Given the description of an element on the screen output the (x, y) to click on. 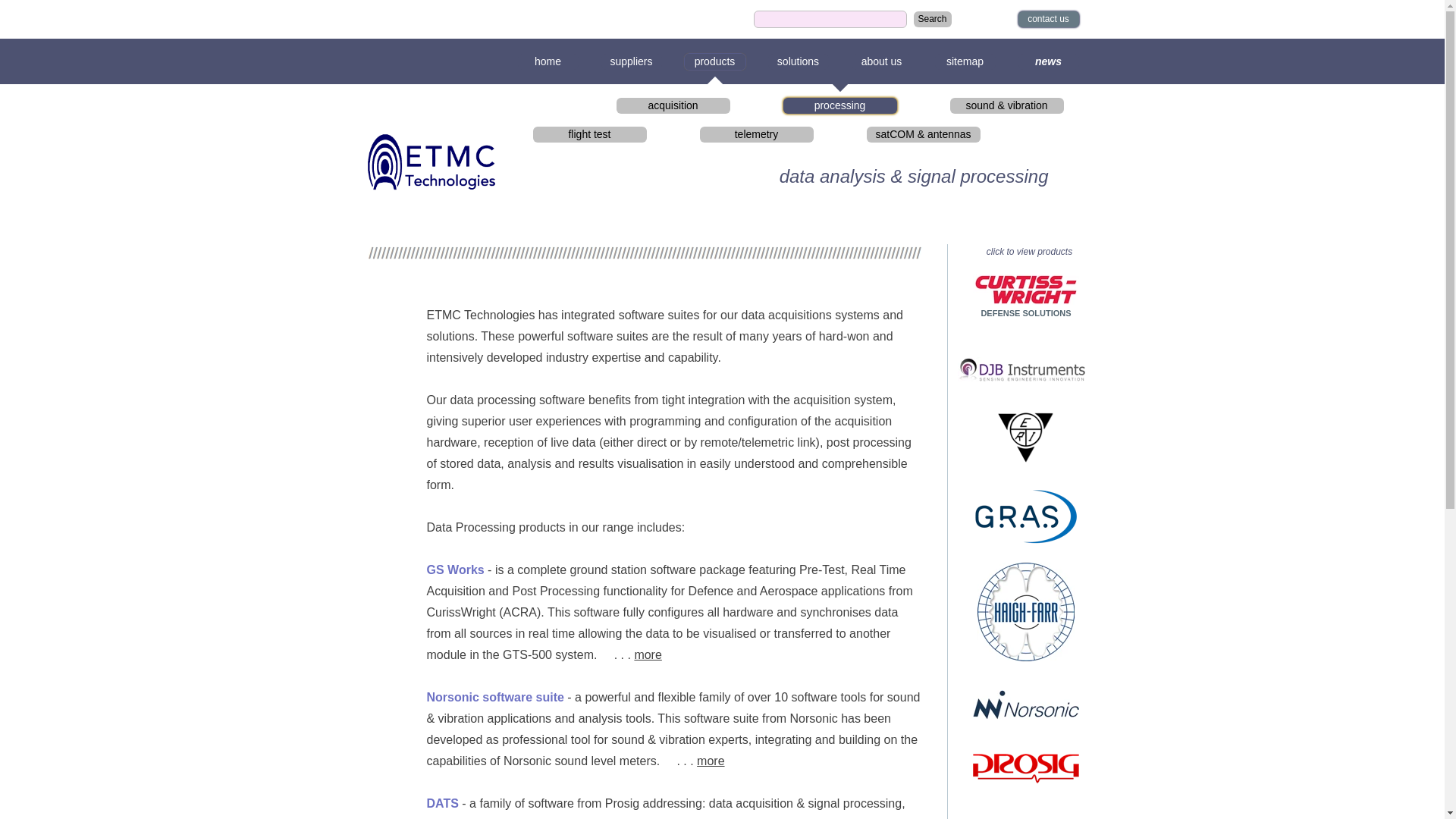
more Element type: text (710, 760)
about us Element type: text (880, 62)
more Element type: text (647, 654)
products Element type: text (714, 62)
home Element type: text (547, 62)
DEFENSE SOLUTIONS Element type: text (1025, 312)
flight test Element type: text (589, 135)
satCOM & antennas Element type: text (922, 135)
sound & vibration Element type: text (1006, 106)
news Element type: text (1047, 62)
sitemap Element type: text (964, 62)
contact us Element type: text (1047, 21)
Search Element type: text (931, 21)
solutions Element type: text (797, 62)
suppliers Element type: text (630, 62)
telemetry Element type: text (755, 135)
acquisition Element type: text (672, 106)
processing Element type: text (839, 106)
